Given the description of an element on the screen output the (x, y) to click on. 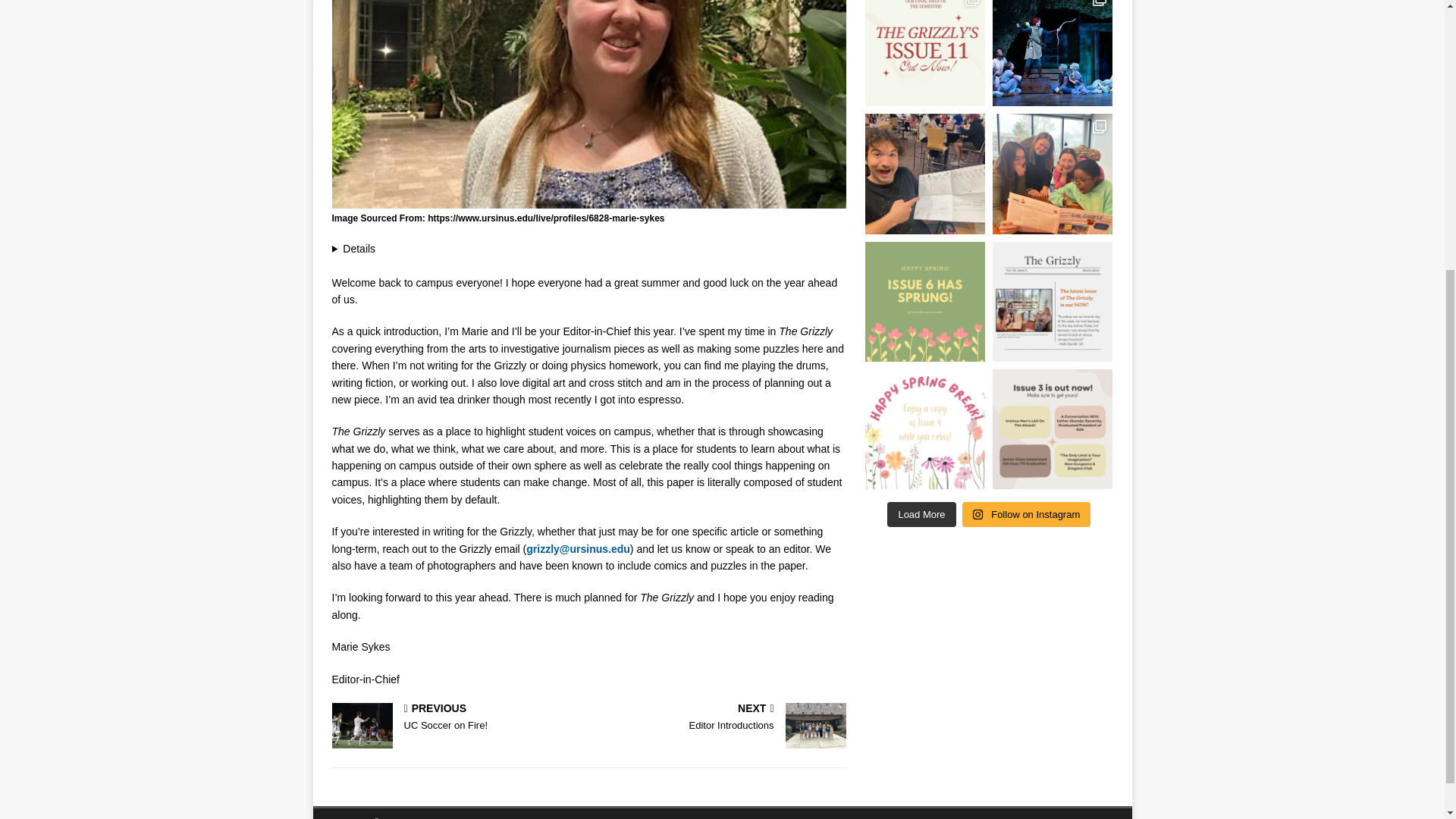
Marie Sykes (588, 104)
